Given the description of an element on the screen output the (x, y) to click on. 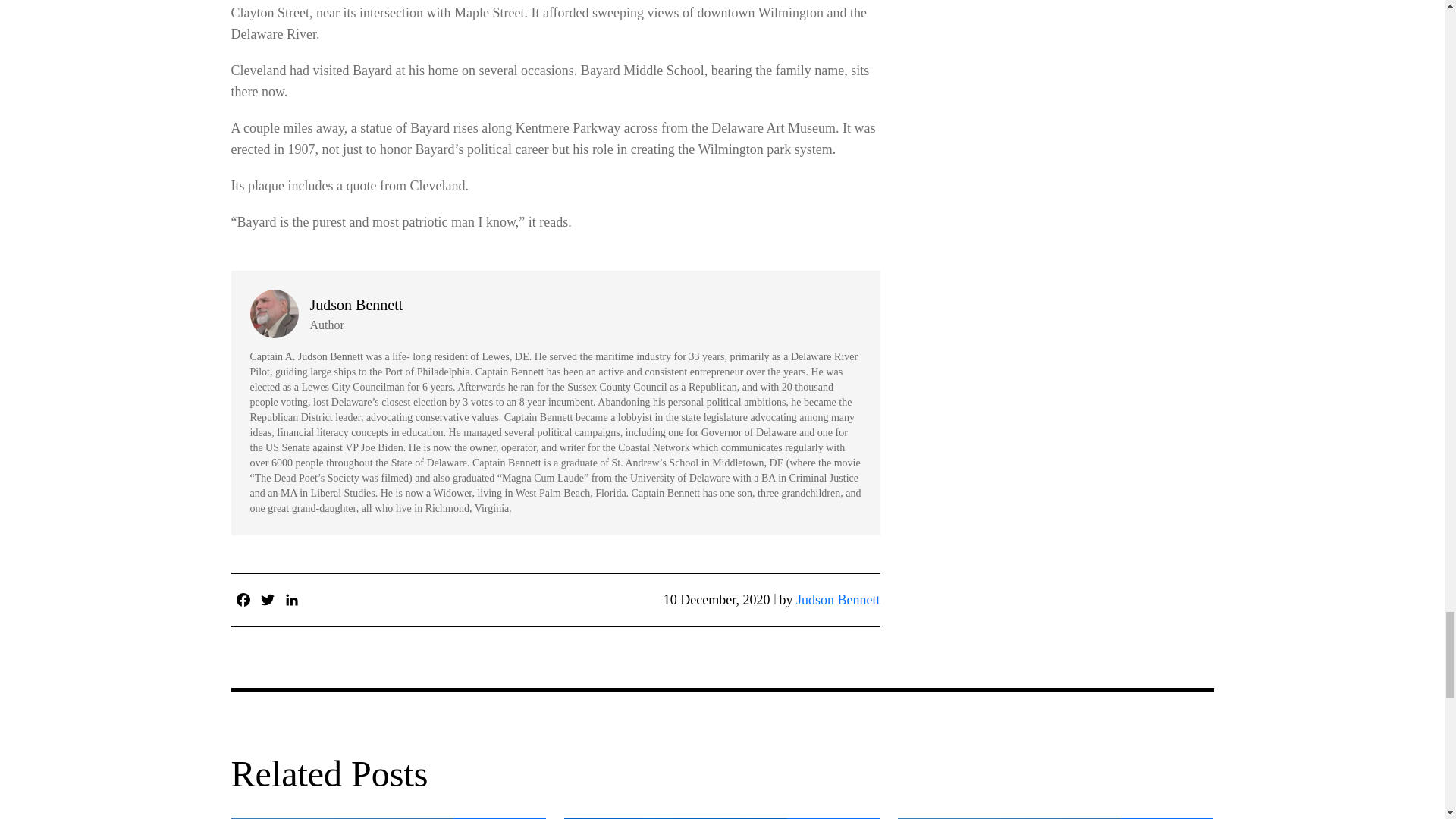
Twitter (266, 599)
Facebook (242, 599)
LinkedIn (290, 599)
